Given the description of an element on the screen output the (x, y) to click on. 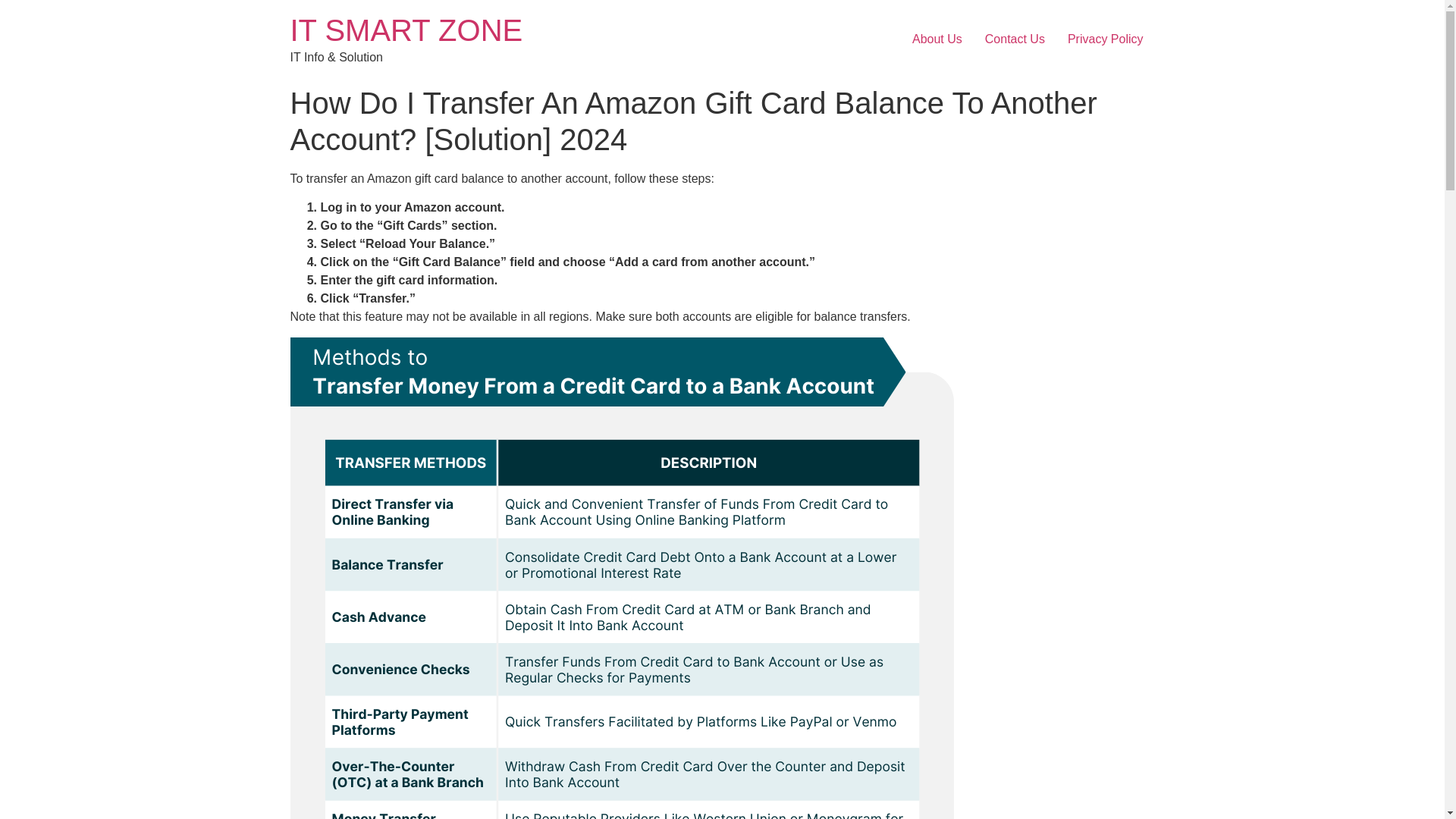
Contact Us (1015, 39)
Privacy Policy (1105, 39)
About Us (937, 39)
IT SMART ZONE (405, 29)
Home (405, 29)
